Given the description of an element on the screen output the (x, y) to click on. 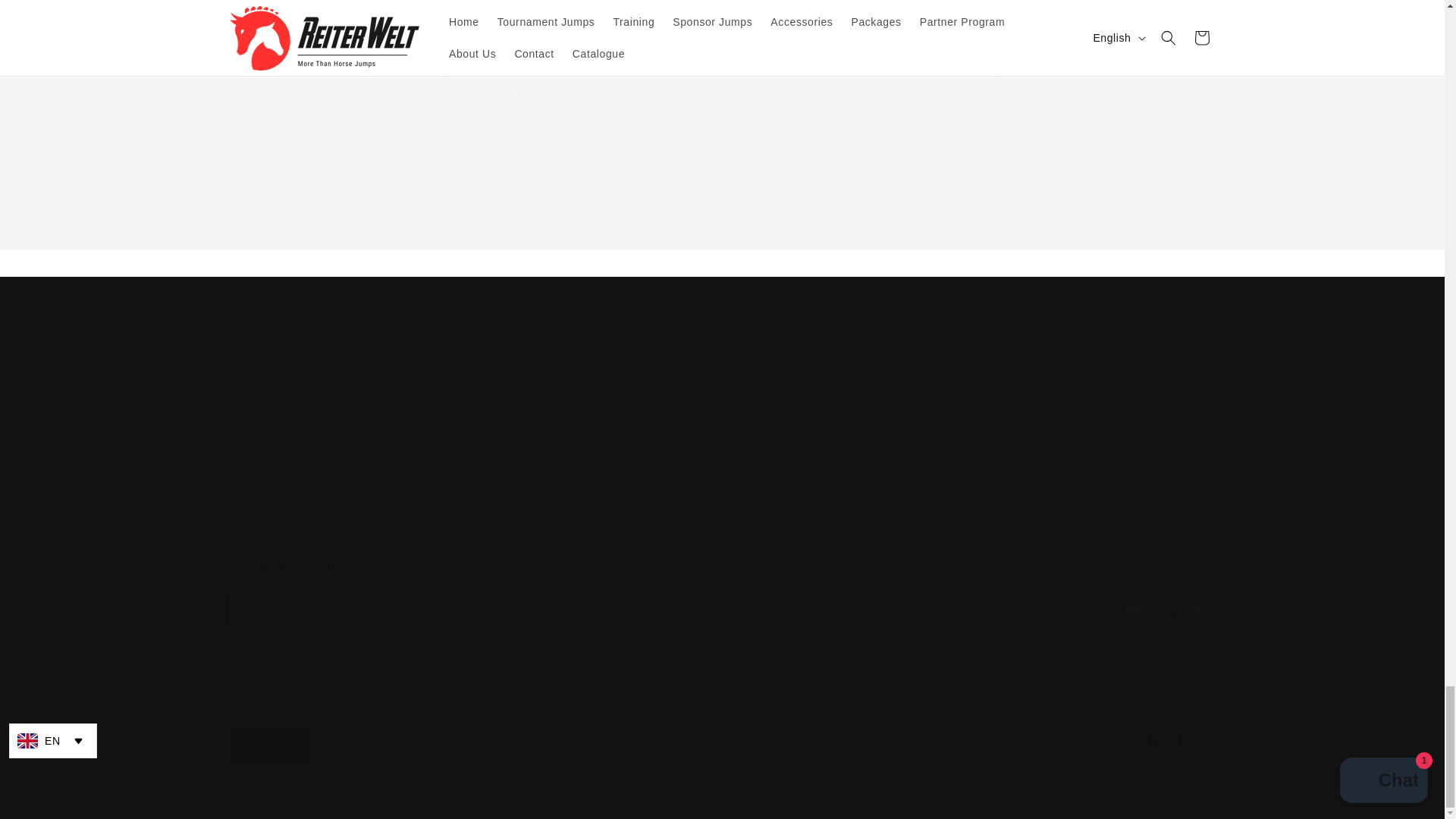
Post comment (721, 593)
